Given the description of an element on the screen output the (x, y) to click on. 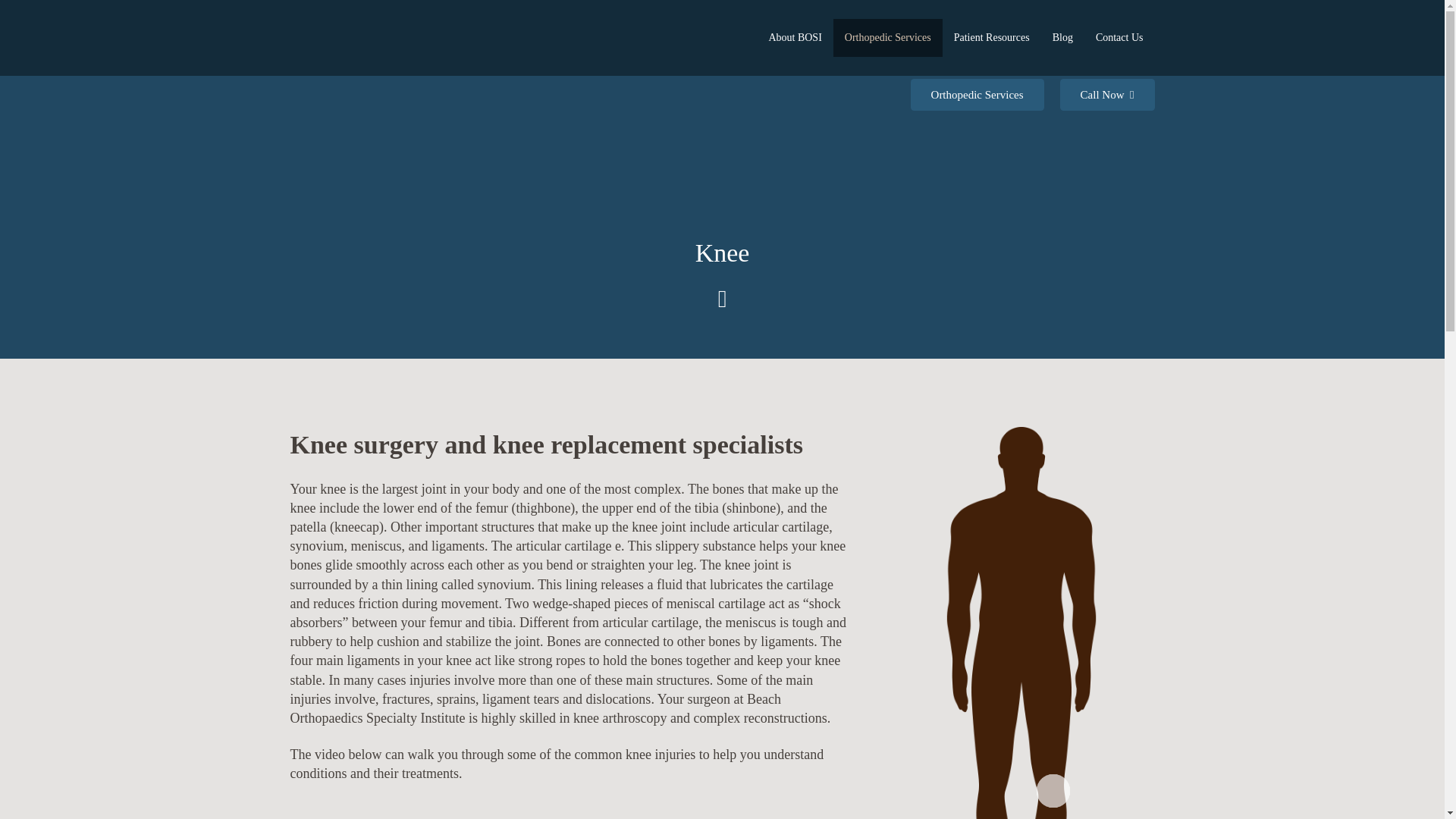
Blog (1062, 37)
About BOSI (794, 37)
Orthopedic Services (977, 94)
Call Now (1106, 94)
Contact Us (1119, 37)
Patient Resources (991, 37)
Orthopedic Services (887, 37)
